Given the description of an element on the screen output the (x, y) to click on. 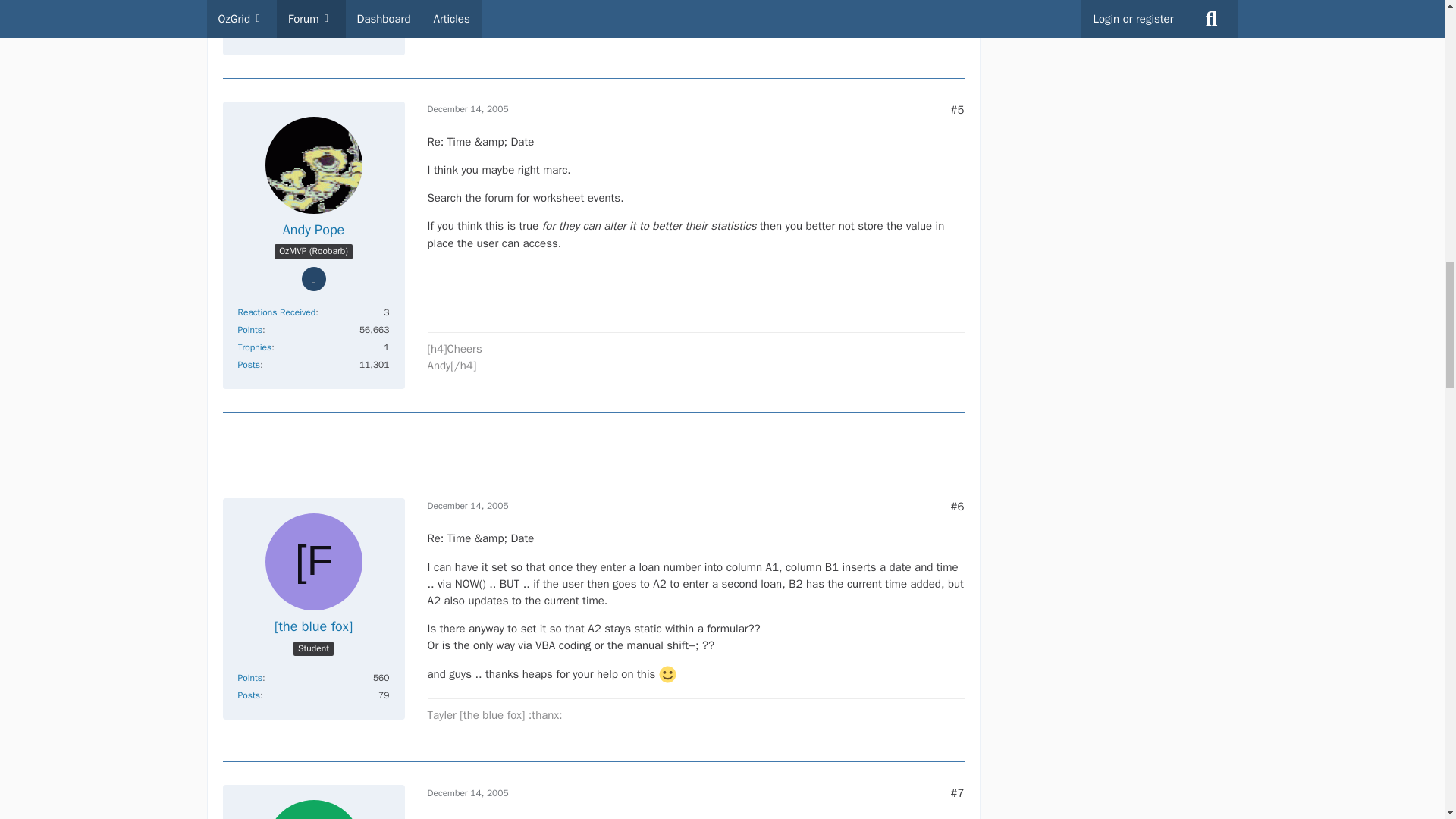
smile (668, 674)
